Given the description of an element on the screen output the (x, y) to click on. 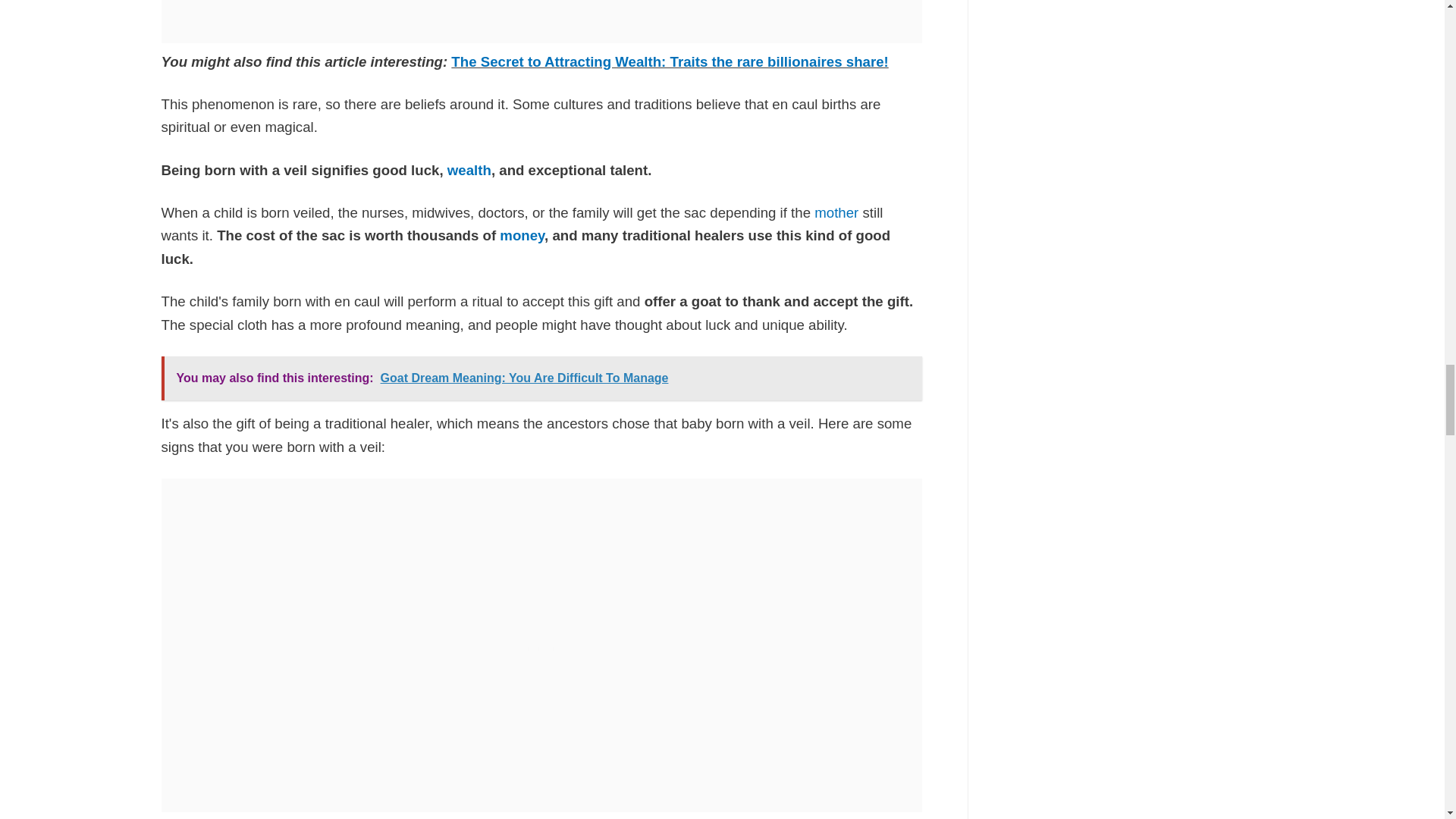
wealth (469, 170)
mother (836, 212)
